Given the description of an element on the screen output the (x, y) to click on. 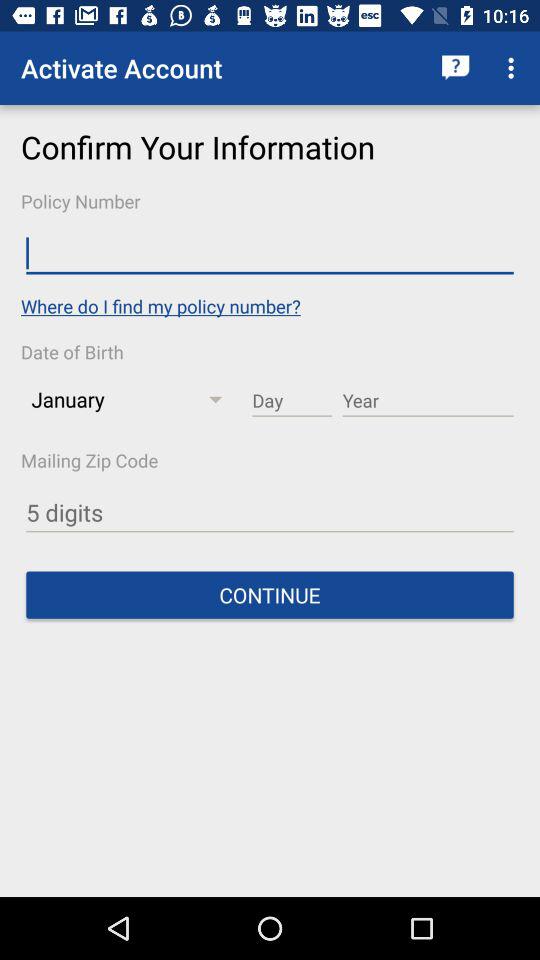
type the zip code (270, 512)
